Given the description of an element on the screen output the (x, y) to click on. 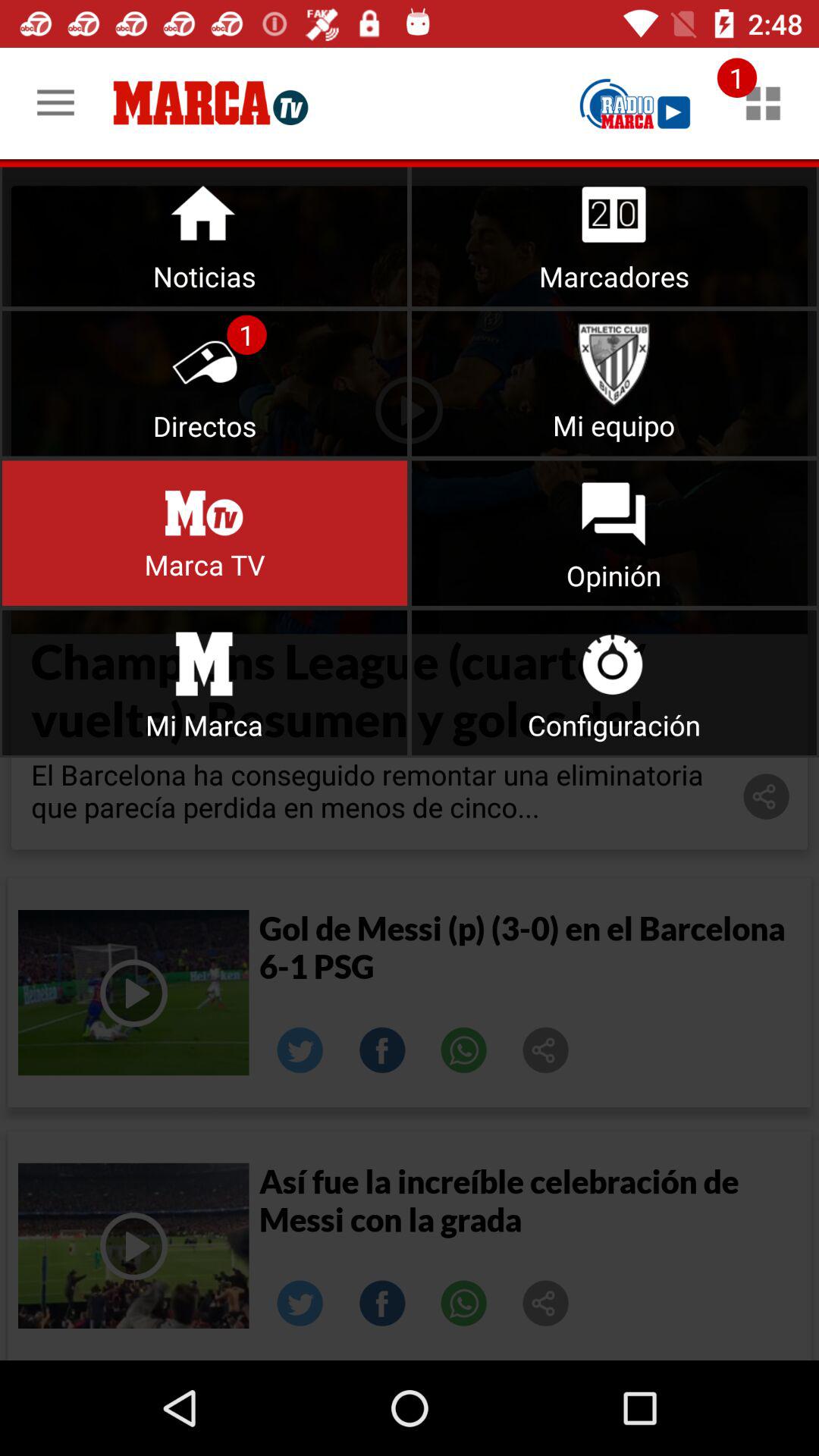
notifications button (204, 233)
